Given the description of an element on the screen output the (x, y) to click on. 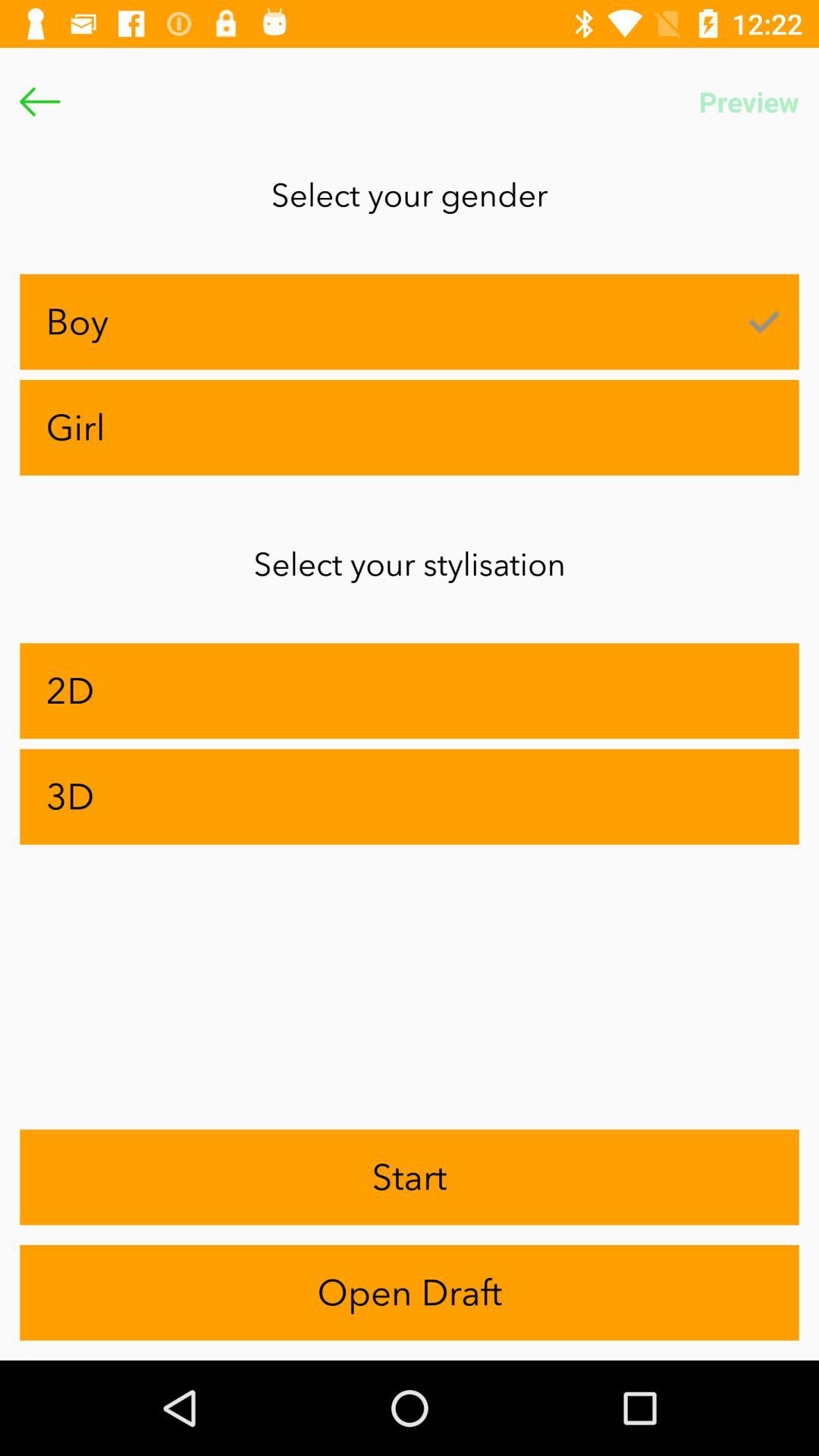
flip until the preview app (749, 101)
